Given the description of an element on the screen output the (x, y) to click on. 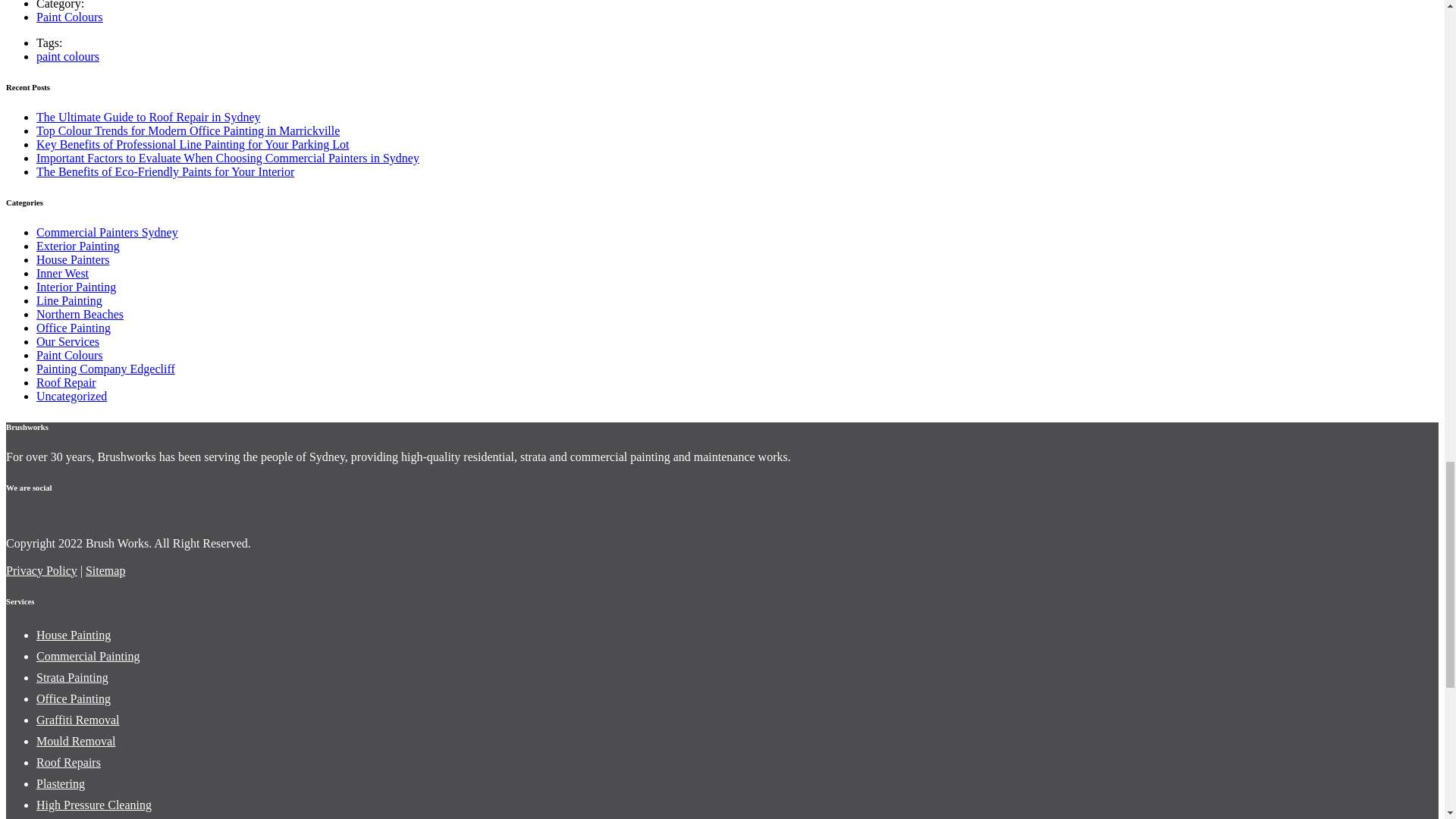
Paint Colours (69, 16)
